Given the description of an element on the screen output the (x, y) to click on. 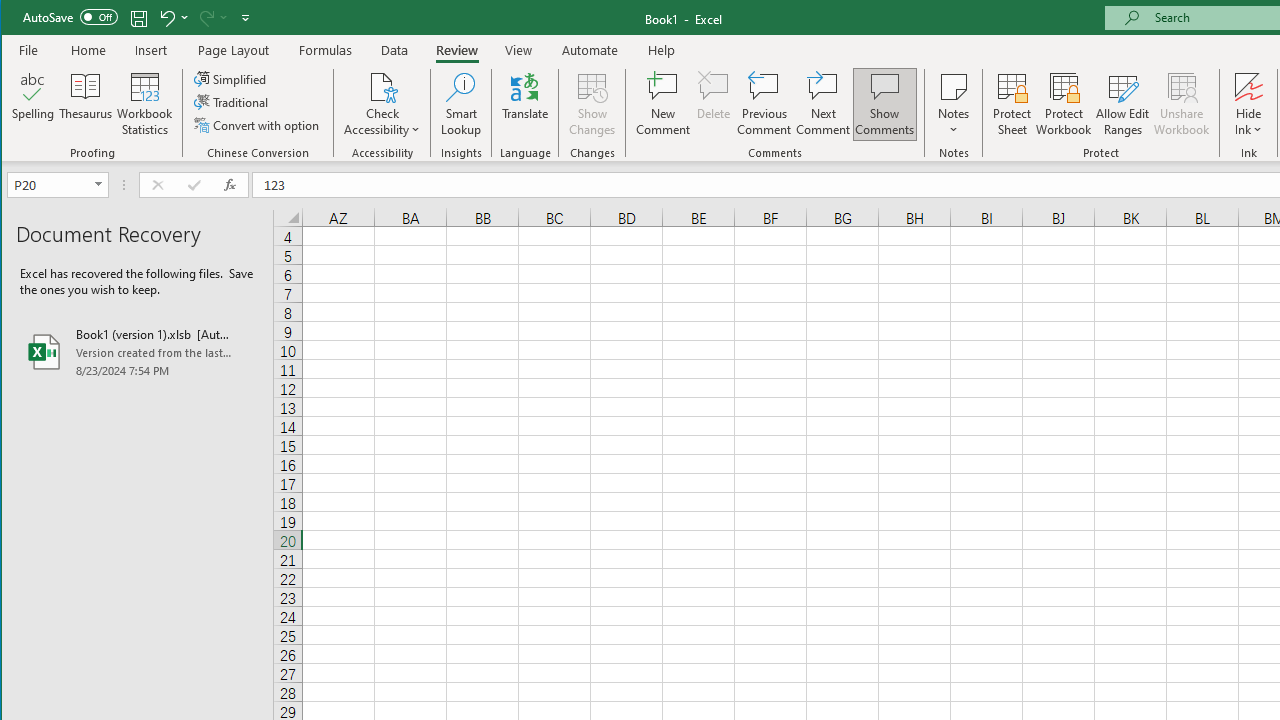
Notes (954, 104)
Next Comment (822, 104)
Protect Workbook... (1064, 104)
Simplified (231, 78)
Delete (713, 104)
Show Changes (592, 104)
